Given the description of an element on the screen output the (x, y) to click on. 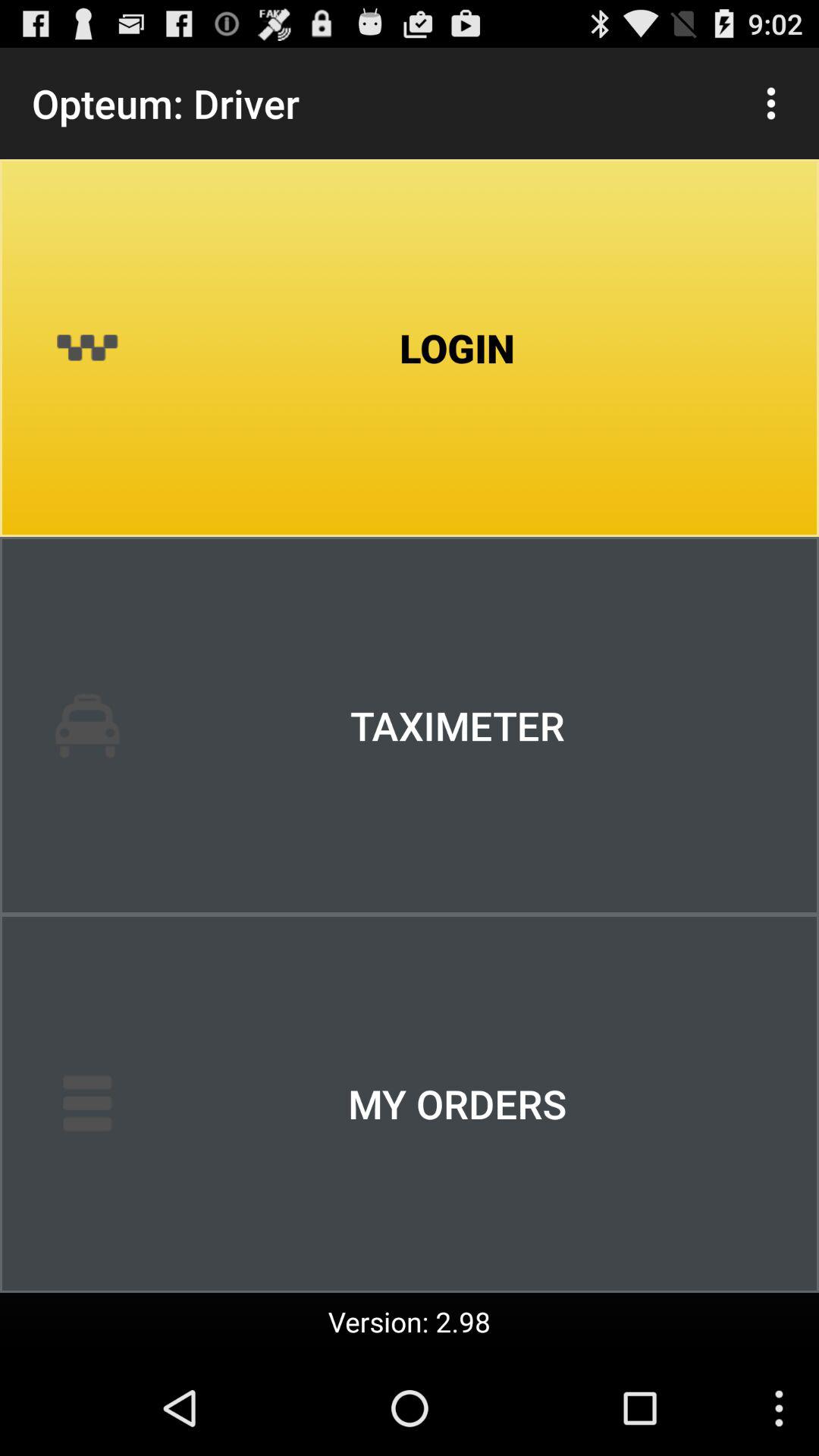
scroll until my orders (409, 1103)
